Given the description of an element on the screen output the (x, y) to click on. 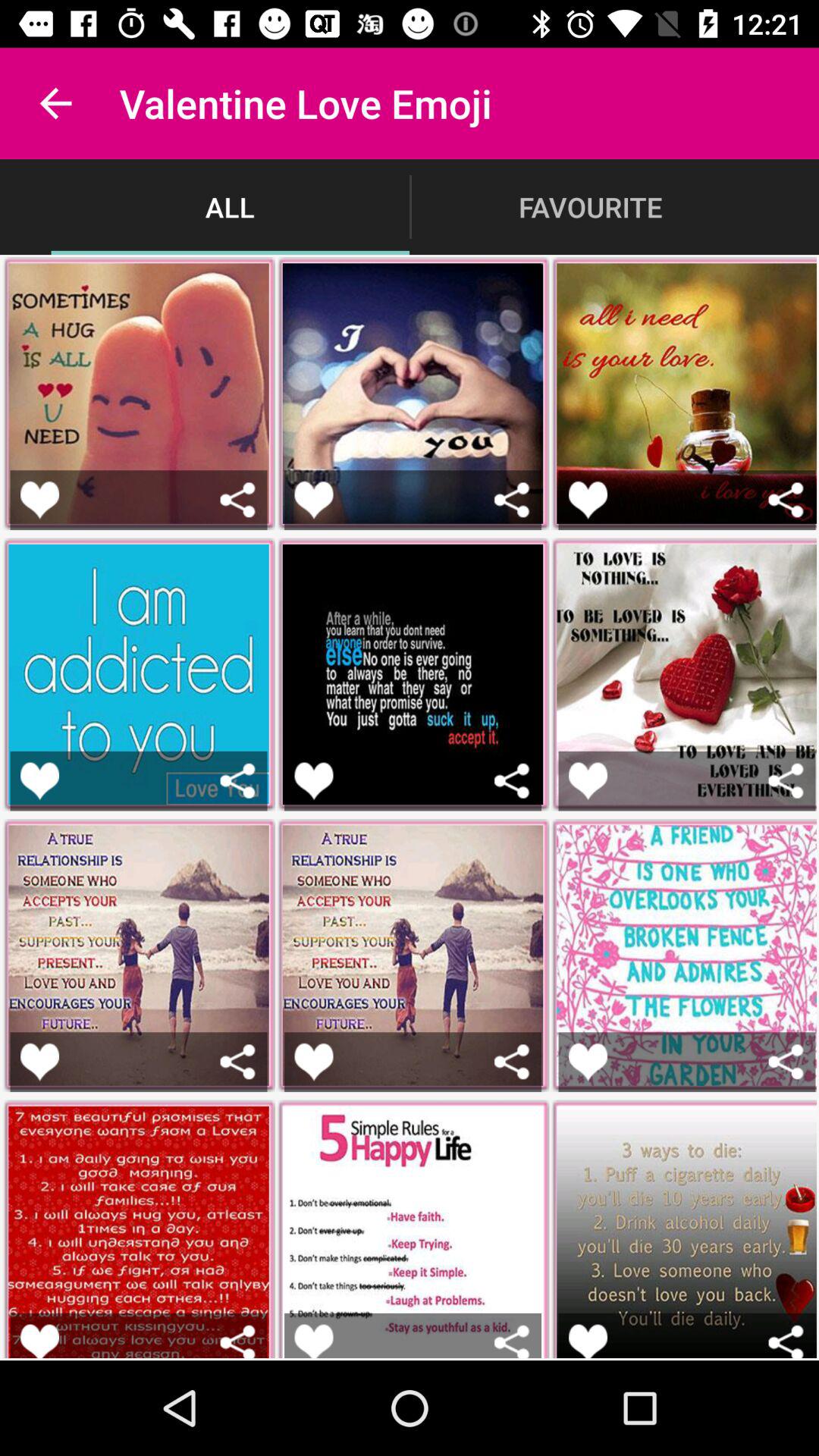
love the post (313, 1340)
